Given the description of an element on the screen output the (x, y) to click on. 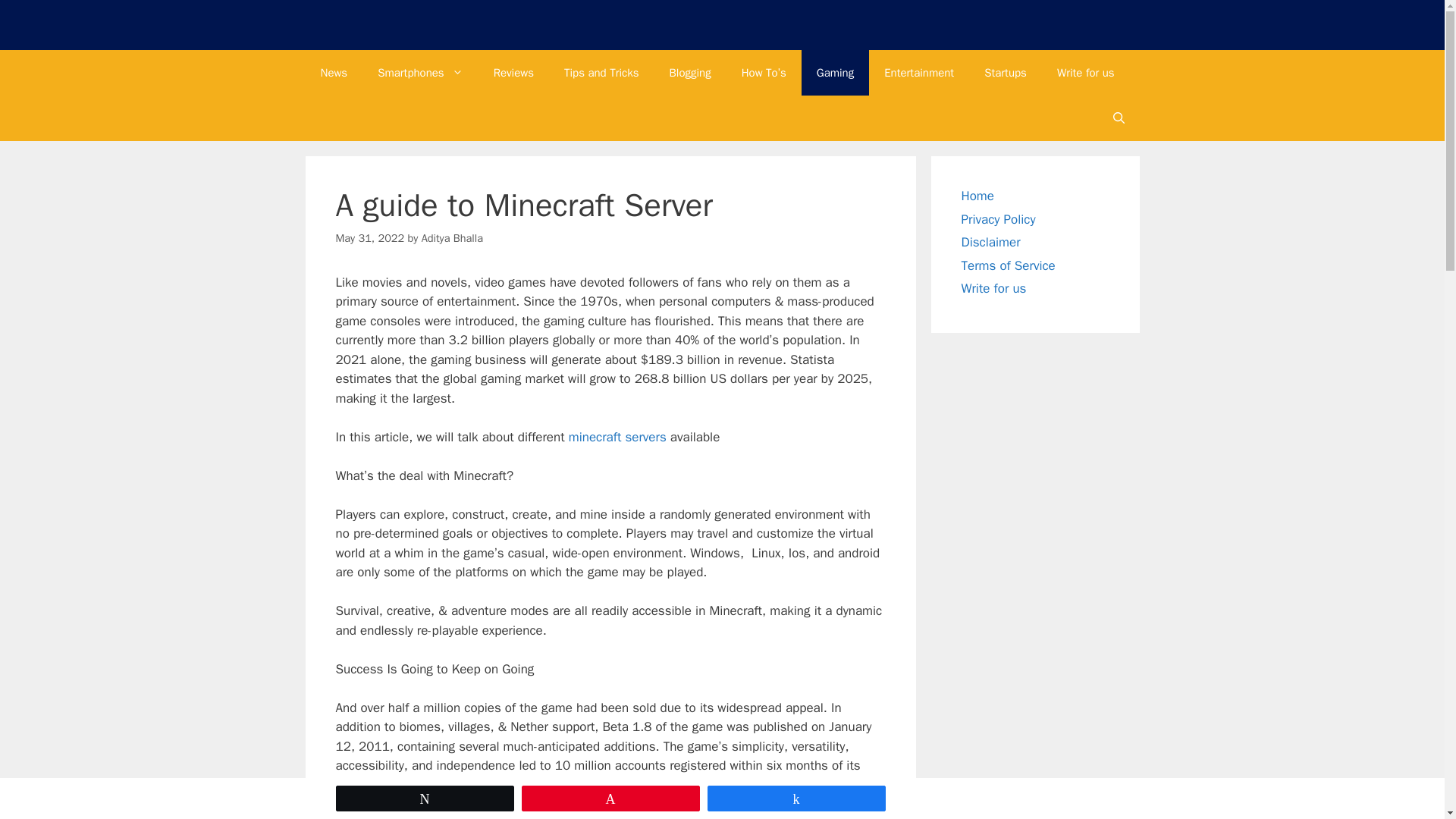
Reviews (513, 72)
News (333, 72)
Startups (1005, 72)
Smartphones (419, 72)
Gaming (835, 72)
Blogging (689, 72)
Tips and Tricks (600, 72)
Write for us (1085, 72)
Entertainment (919, 72)
View all posts by Aditya Bhalla (452, 237)
